Given the description of an element on the screen output the (x, y) to click on. 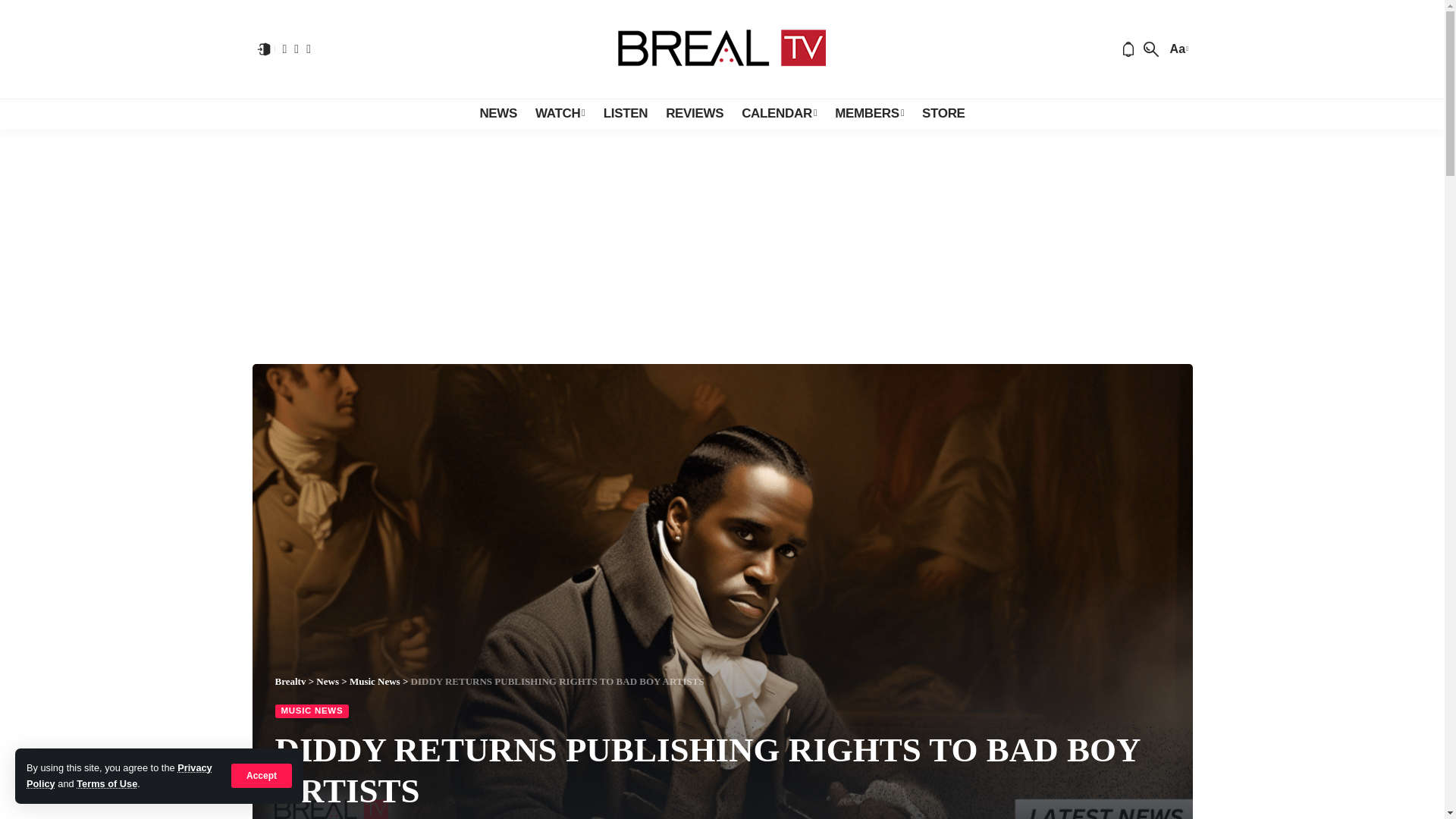
Go to the Music News Category archives. (374, 681)
LISTEN (625, 113)
Go to Brealtv. (290, 681)
Privacy Policy (119, 775)
NEWS (497, 113)
Terms of Use (106, 783)
Accept (261, 775)
Go to the News Category archives. (327, 681)
Aa (1177, 48)
MEMBERS (868, 113)
CALENDAR (778, 113)
Brealtv (721, 48)
STORE (943, 113)
REVIEWS (694, 113)
